Given the description of an element on the screen output the (x, y) to click on. 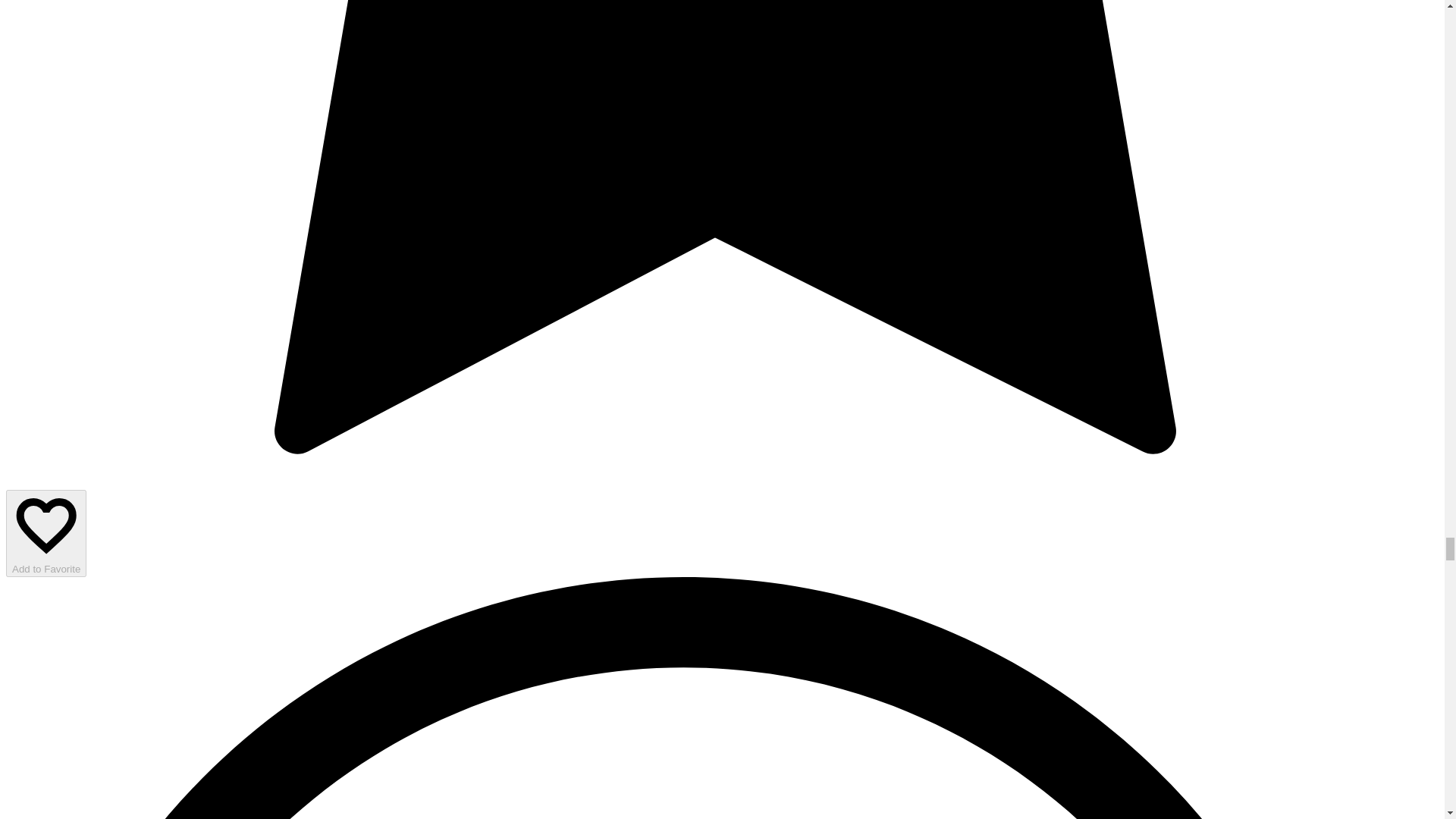
Add to Favorite (45, 532)
